Given the description of an element on the screen output the (x, y) to click on. 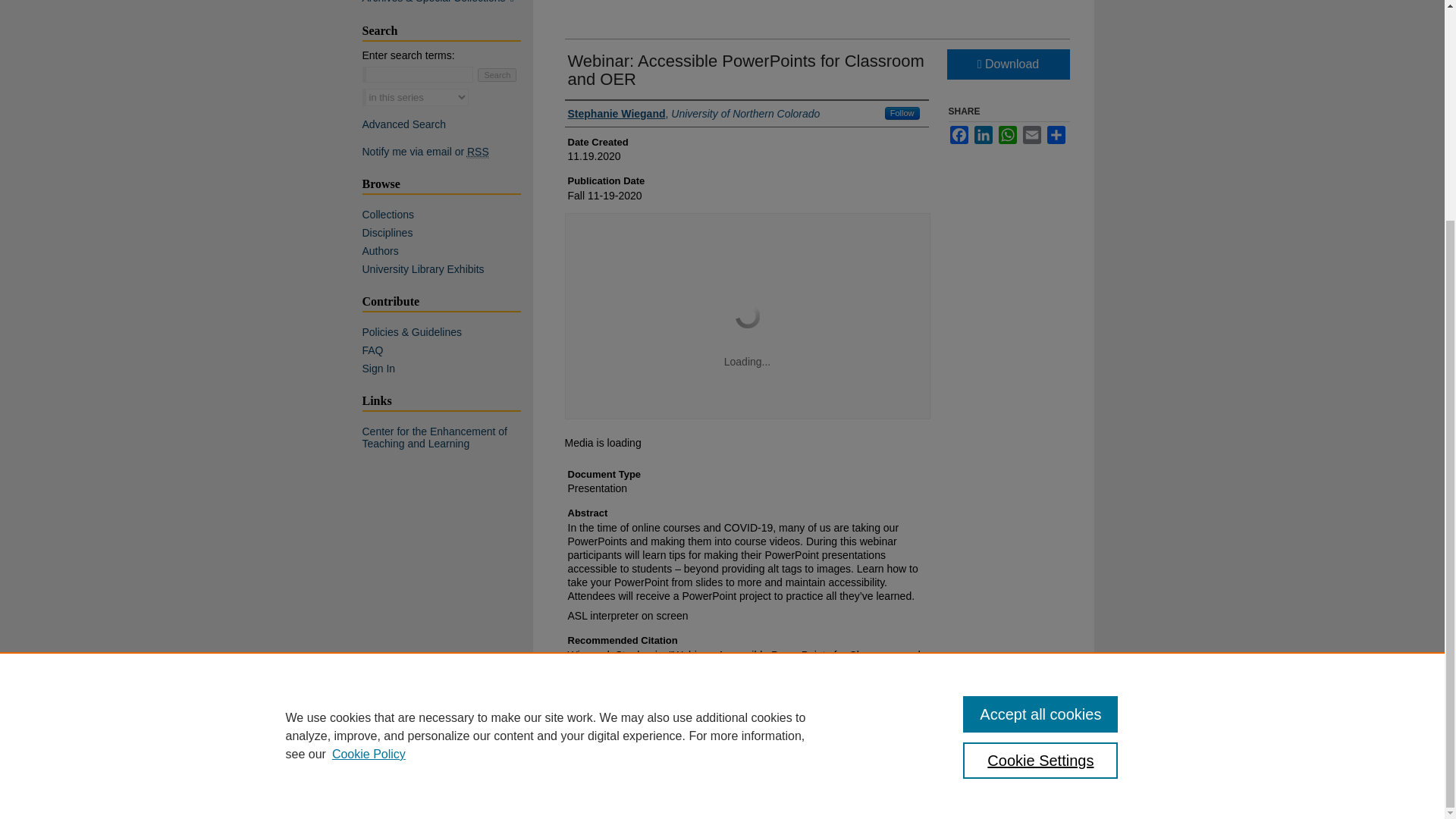
Follow Stephanie Wiegand (902, 113)
Browse by Collections (447, 214)
Download (1007, 64)
Disciplines (447, 232)
Email (1031, 135)
Advanced Search (404, 123)
Follow (902, 113)
Notify me via email or RSS (447, 151)
Search (496, 74)
Authors (447, 250)
Search (496, 74)
Facebook (958, 135)
Email or RSS Notifications (447, 151)
Collections (447, 214)
